Given the description of an element on the screen output the (x, y) to click on. 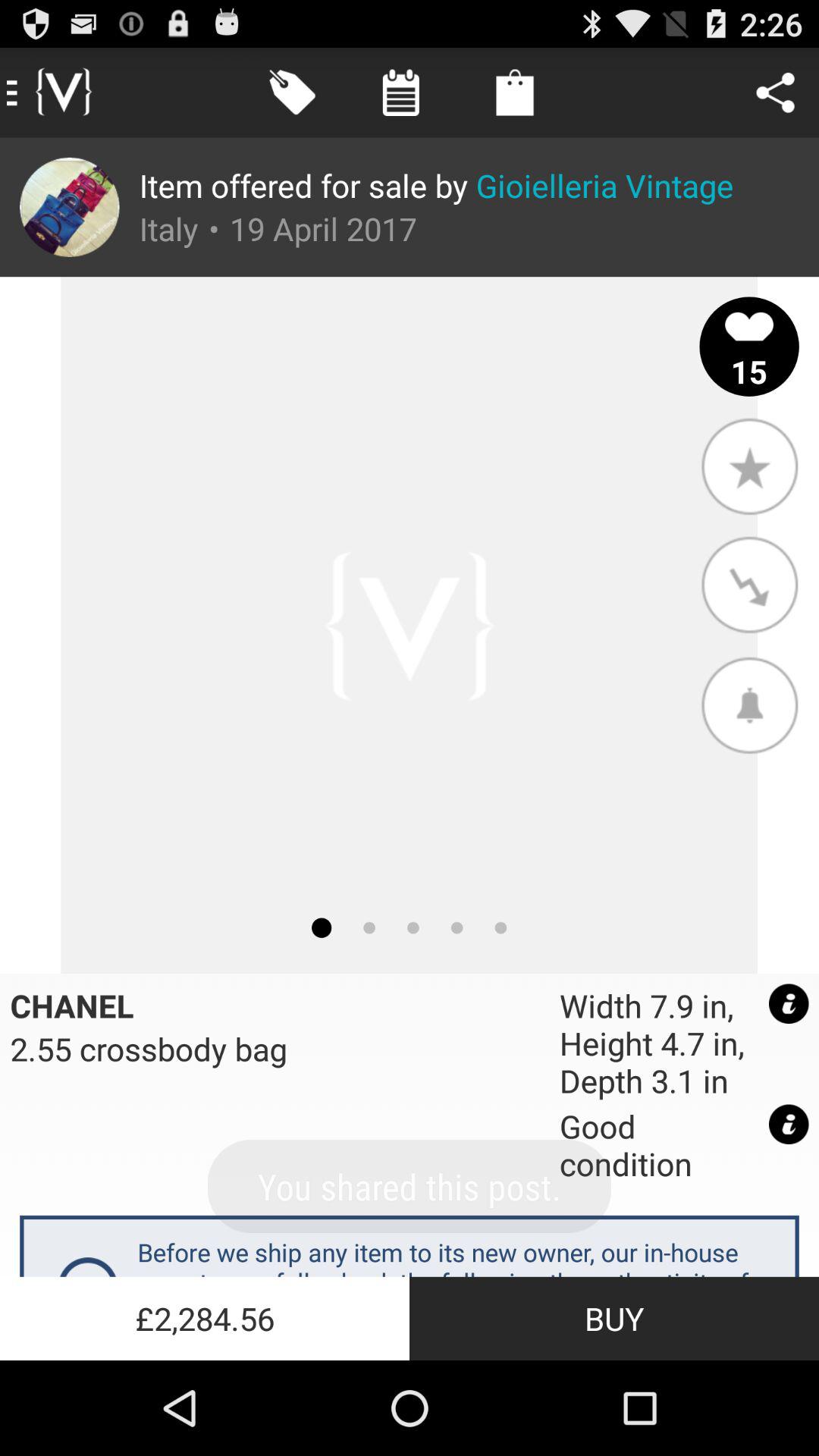
click the app above the width 7 9 app (749, 704)
